Given the description of an element on the screen output the (x, y) to click on. 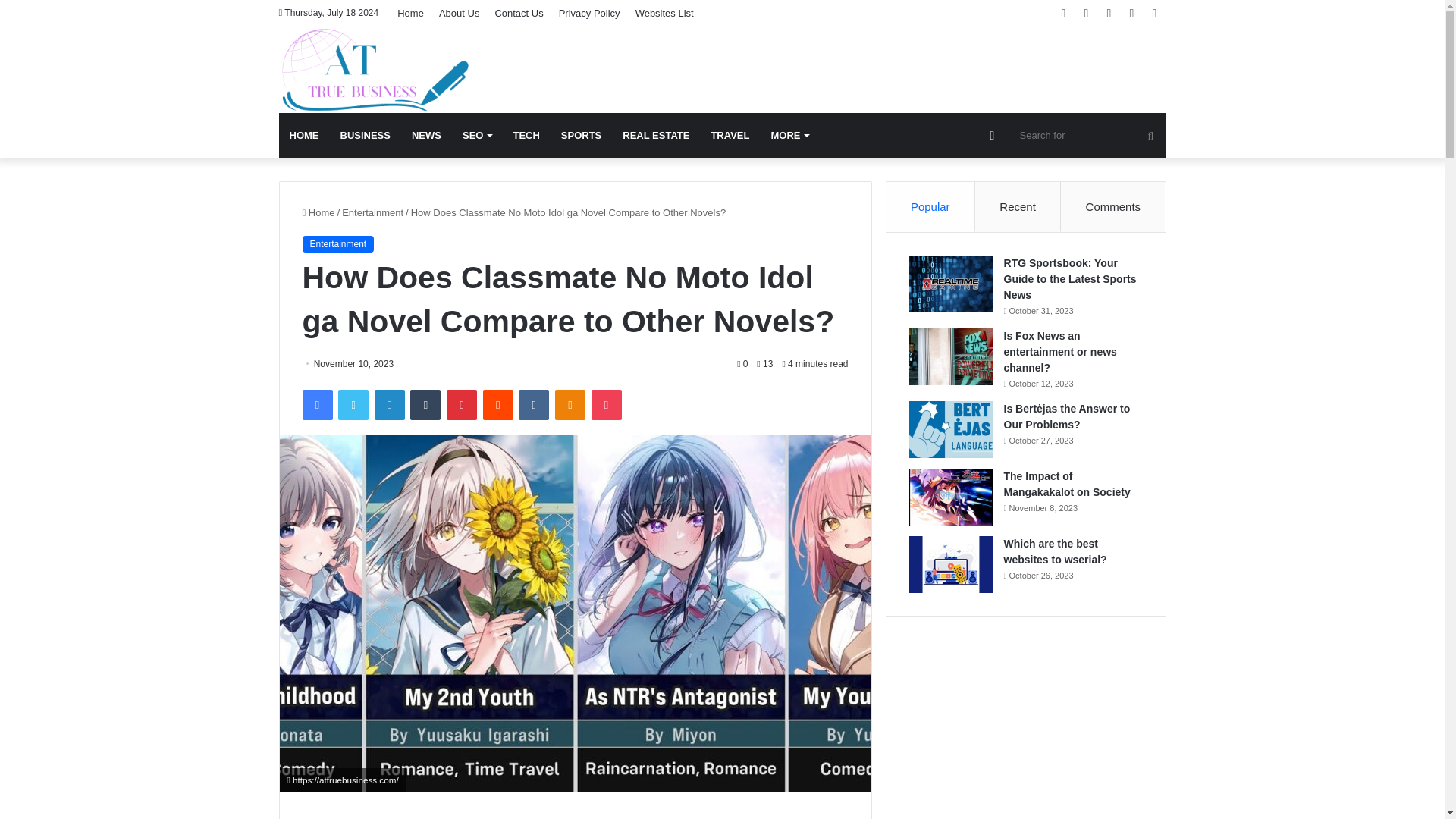
BUSINESS (364, 135)
SPORTS (580, 135)
Pinterest (461, 404)
Reddit (498, 404)
Pocket (606, 404)
Random Article (992, 135)
Entertainment (372, 212)
Websites List (664, 13)
Odnoklassniki (569, 404)
Contact Us (518, 13)
VKontakte (533, 404)
Privacy Policy (589, 13)
Twitter (352, 404)
Twitter (352, 404)
About Us (458, 13)
